Given the description of an element on the screen output the (x, y) to click on. 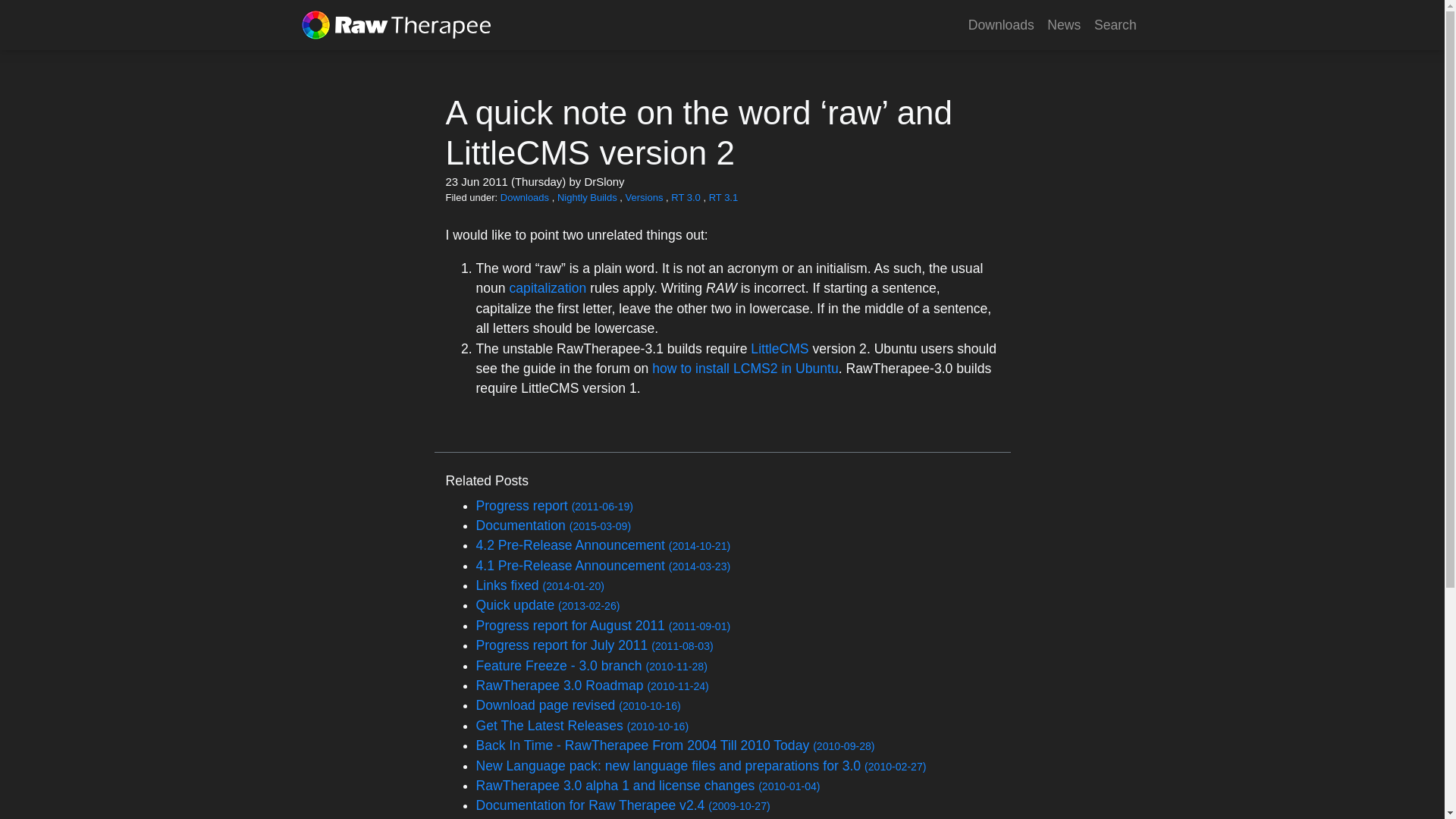
Wikipedia article on capitalization (547, 287)
how to install LCMS2 in Ubuntu (745, 368)
Downloads (525, 197)
How to install LCMS2 in Ubuntu (745, 368)
Nightly Builds (588, 197)
RT 3.1 (723, 197)
Versions (645, 197)
News (1064, 24)
LittleCMS (779, 348)
RT 3.0 (687, 197)
